Given the description of an element on the screen output the (x, y) to click on. 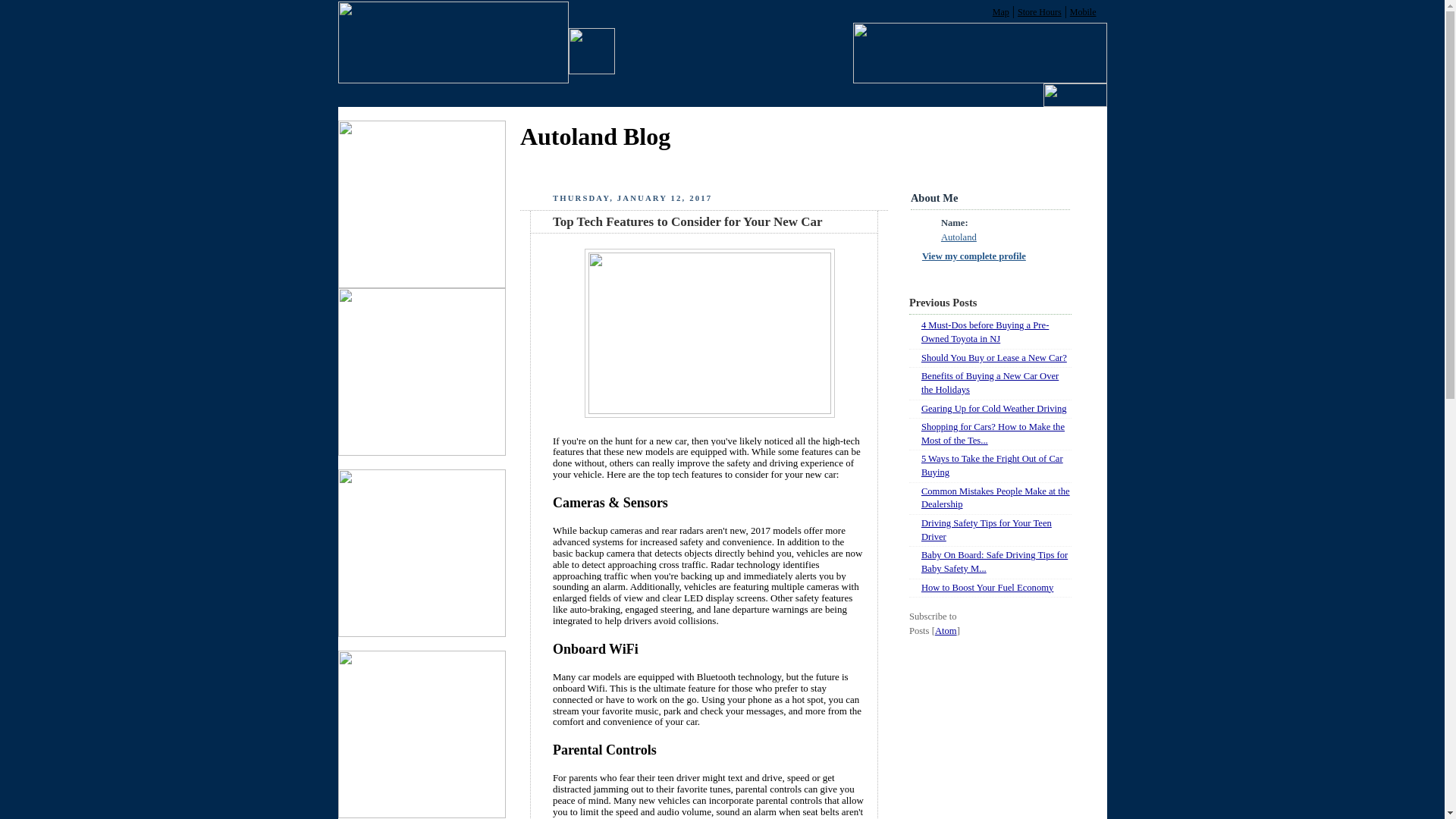
View my complete profile (968, 255)
Atom (945, 630)
Driving Safety Tips for Your Teen Driver (986, 529)
Autoland (958, 236)
4 Must-Dos before Buying a Pre-Owned Toyota in NJ (984, 331)
Map (1000, 11)
Shopping for Cars? How to Make the Most of the Tes... (992, 433)
Common Mistakes People Make at the Dealership (995, 498)
How to Boost Your Fuel Economy (986, 587)
Baby On Board: Safe Driving Tips for Baby Safety M... (994, 561)
Benefits of Buying a New Car Over the Holidays (989, 382)
Gearing Up for Cold Weather Driving (994, 408)
Should You Buy or Lease a New Car? (994, 357)
5 Ways to Take the Fright Out of Car Buying (991, 465)
Mobile (1083, 11)
